Given the description of an element on the screen output the (x, y) to click on. 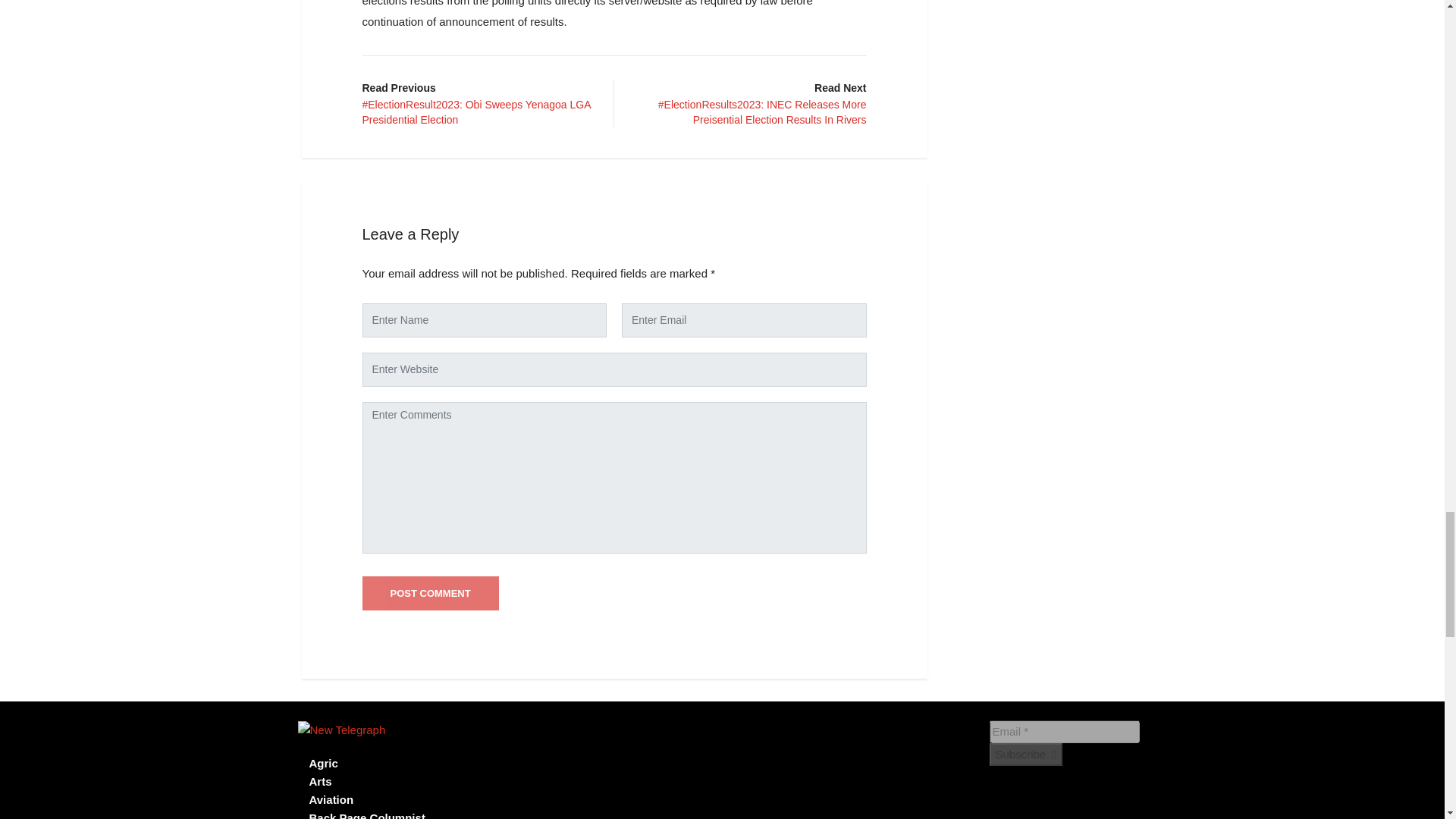
Post Comment (430, 593)
